Given the description of an element on the screen output the (x, y) to click on. 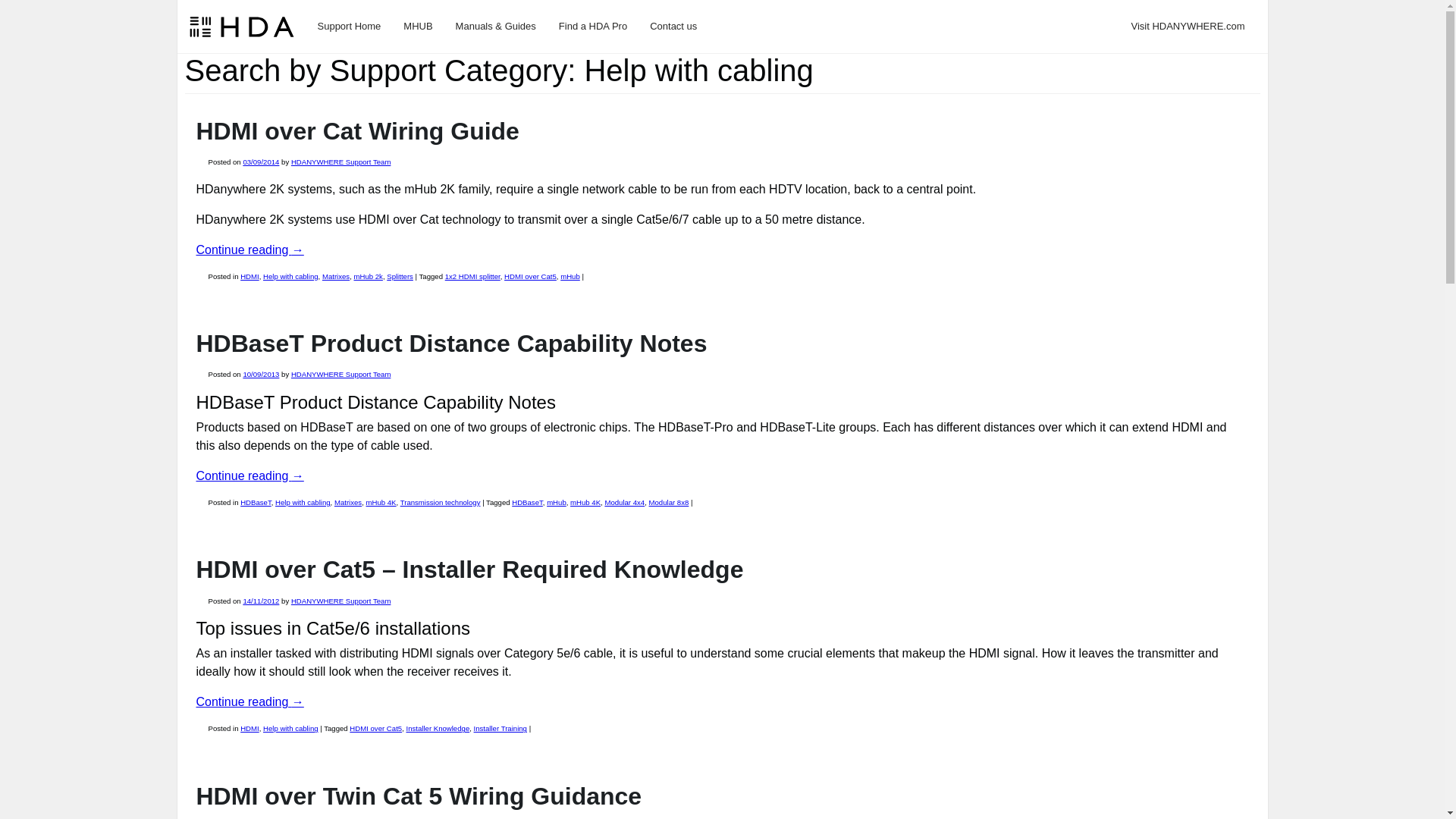
HDMI (249, 275)
mHub (569, 275)
Help with cabling (302, 501)
Permalink to HDMI over Cat Wiring Guide (356, 130)
View all posts in Matrixes (335, 275)
Matrixes (335, 275)
View all posts in HDMI (249, 275)
12:21 (261, 374)
Help with cabling (290, 275)
Modular 4x4 (624, 501)
View all posts by HDANYWHERE Support Team (341, 162)
Visit HDANYWHERE.com (1187, 26)
View all posts in mHub 4K (381, 501)
mHub 4K (381, 501)
View all posts in Transmission technology (440, 501)
